Given the description of an element on the screen output the (x, y) to click on. 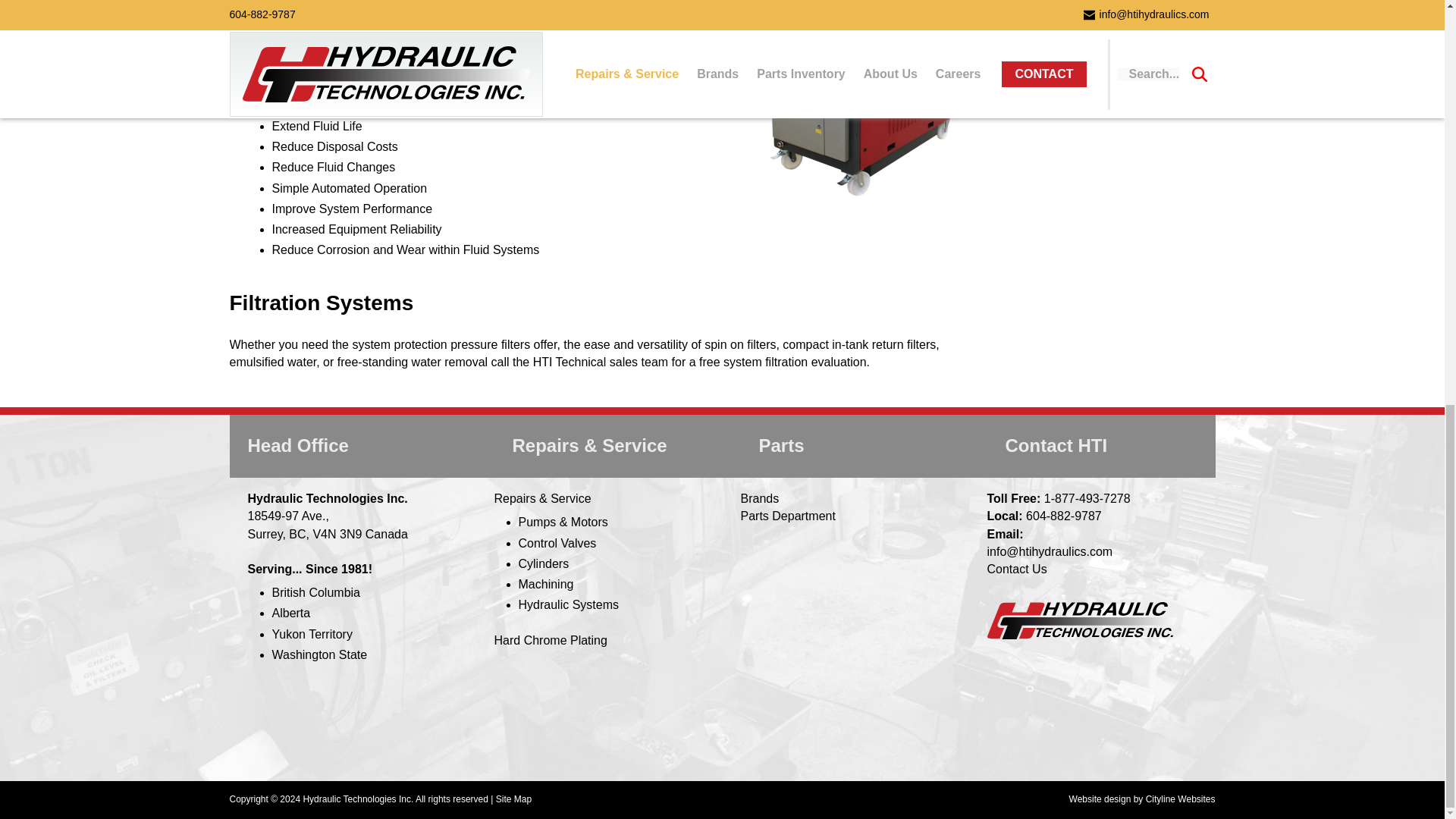
Brands (758, 498)
Custom Metal Finishing - Chroming (551, 640)
Hard Chrome Plating (551, 640)
Control Valves (557, 543)
Machining (545, 584)
Pumps and Motors (563, 521)
Filtration (1112, 51)
Parts Department (786, 515)
Machining (545, 584)
Parts Department (786, 515)
